Given the description of an element on the screen output the (x, y) to click on. 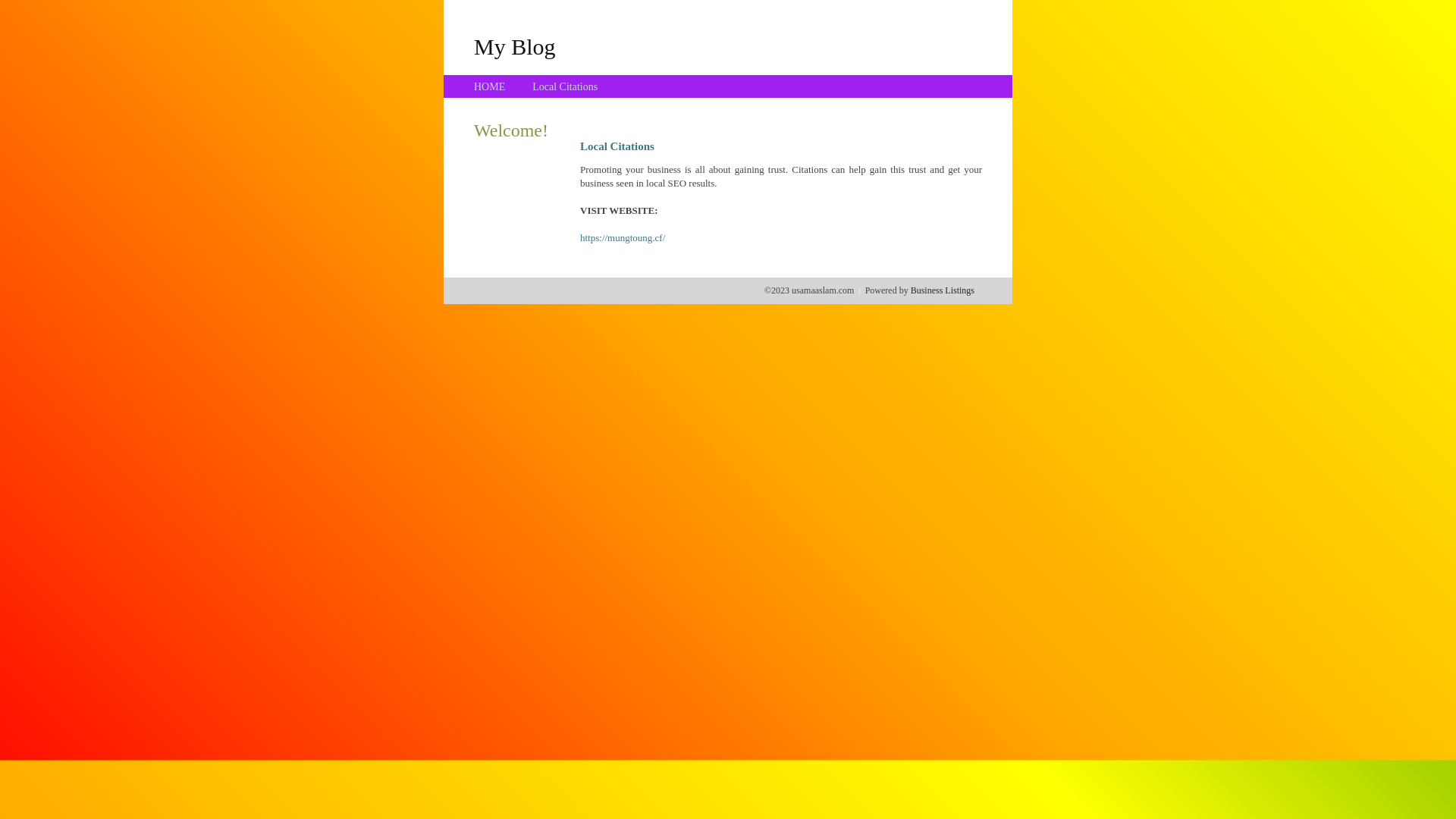
https://mungtoung.cf/ Element type: text (622, 237)
HOME Element type: text (489, 86)
Local Citations Element type: text (564, 86)
My Blog Element type: text (514, 46)
Business Listings Element type: text (942, 290)
